Given the description of an element on the screen output the (x, y) to click on. 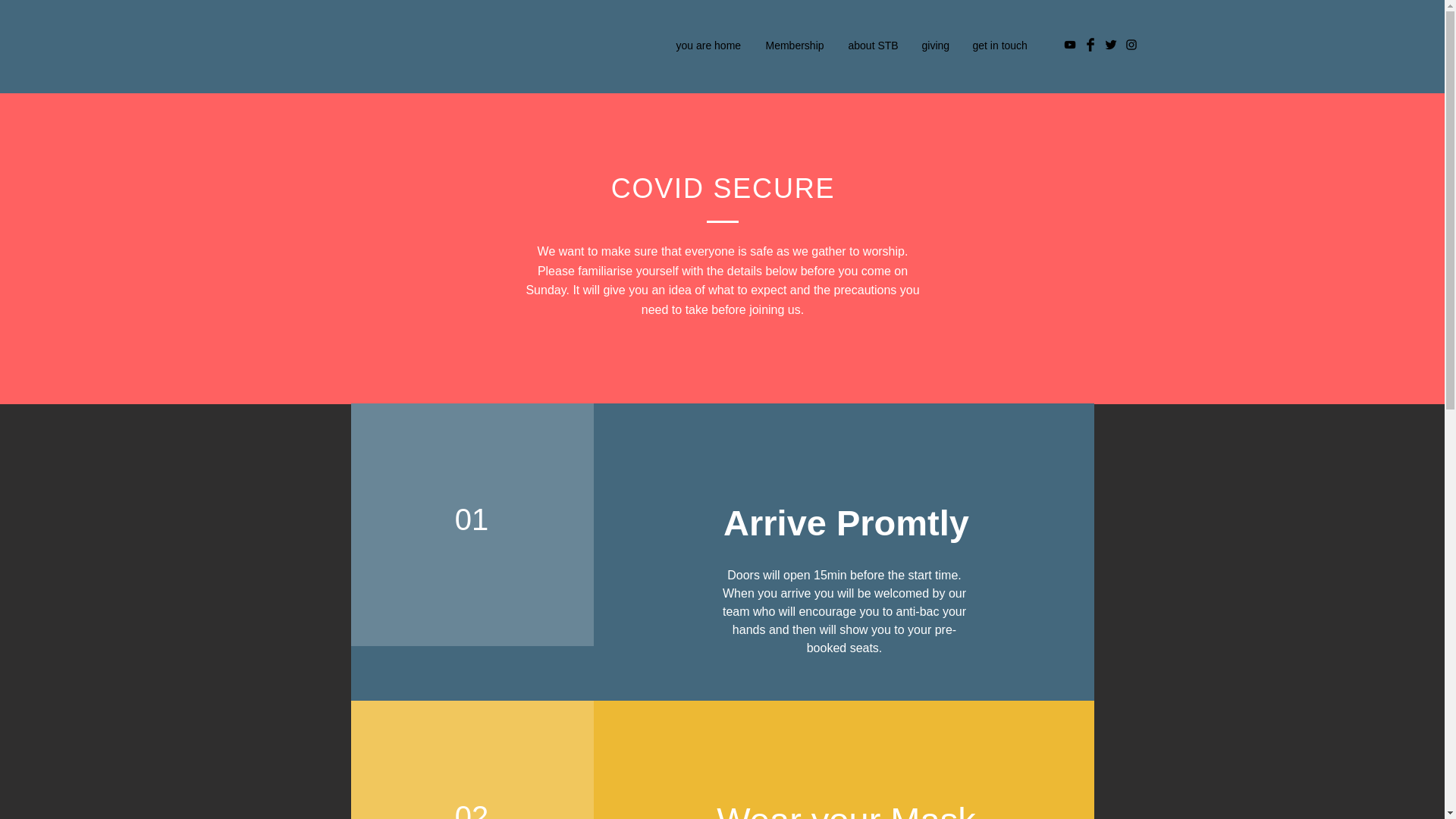
get in touch (1000, 45)
giving (935, 45)
you are home (708, 45)
about STB (874, 45)
Membership (794, 45)
